Given the description of an element on the screen output the (x, y) to click on. 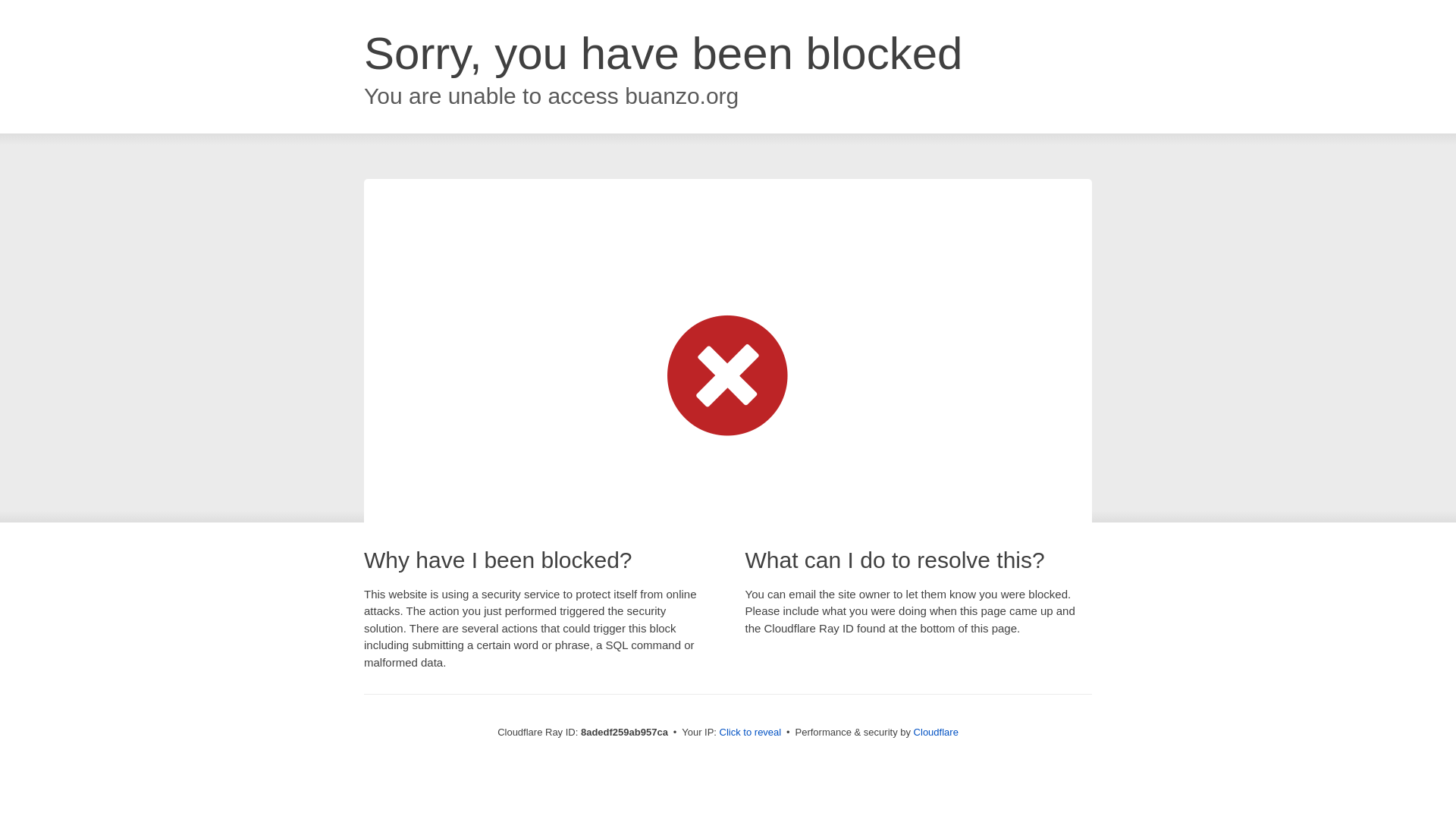
Cloudflare (936, 731)
Click to reveal (750, 732)
